Given the description of an element on the screen output the (x, y) to click on. 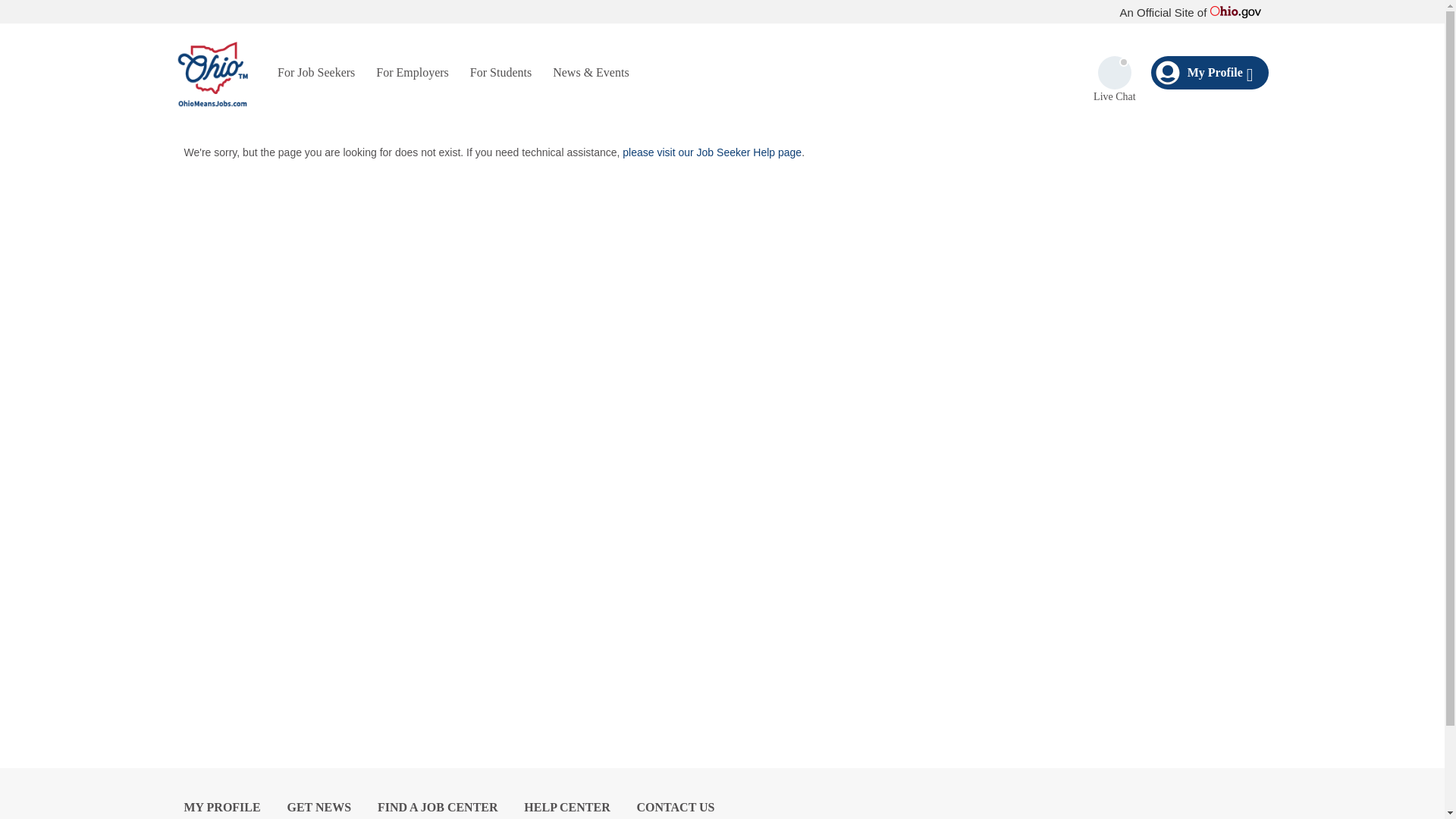
Find a Job Center (437, 807)
My Profile (1209, 72)
My Profile (221, 807)
For Job Seekers (315, 71)
Live Chat (1114, 80)
Contact Us (675, 807)
Help Center (567, 807)
News (318, 807)
An Official Site of (1189, 11)
